Given the description of an element on the screen output the (x, y) to click on. 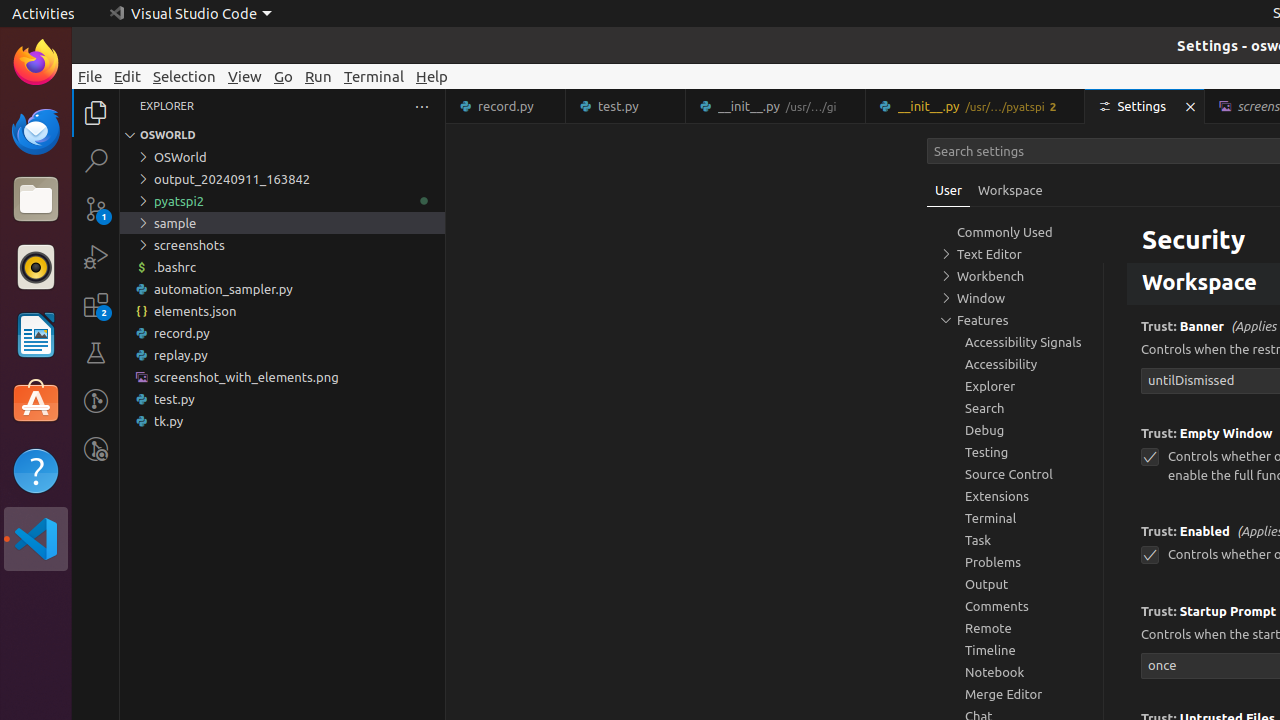
pyatspi2 Element type: tree-item (282, 201)
User Element type: check-box (949, 190)
record.py Element type: page-tab (506, 106)
Workbench, group Element type: tree-item (1015, 276)
